Given the description of an element on the screen output the (x, y) to click on. 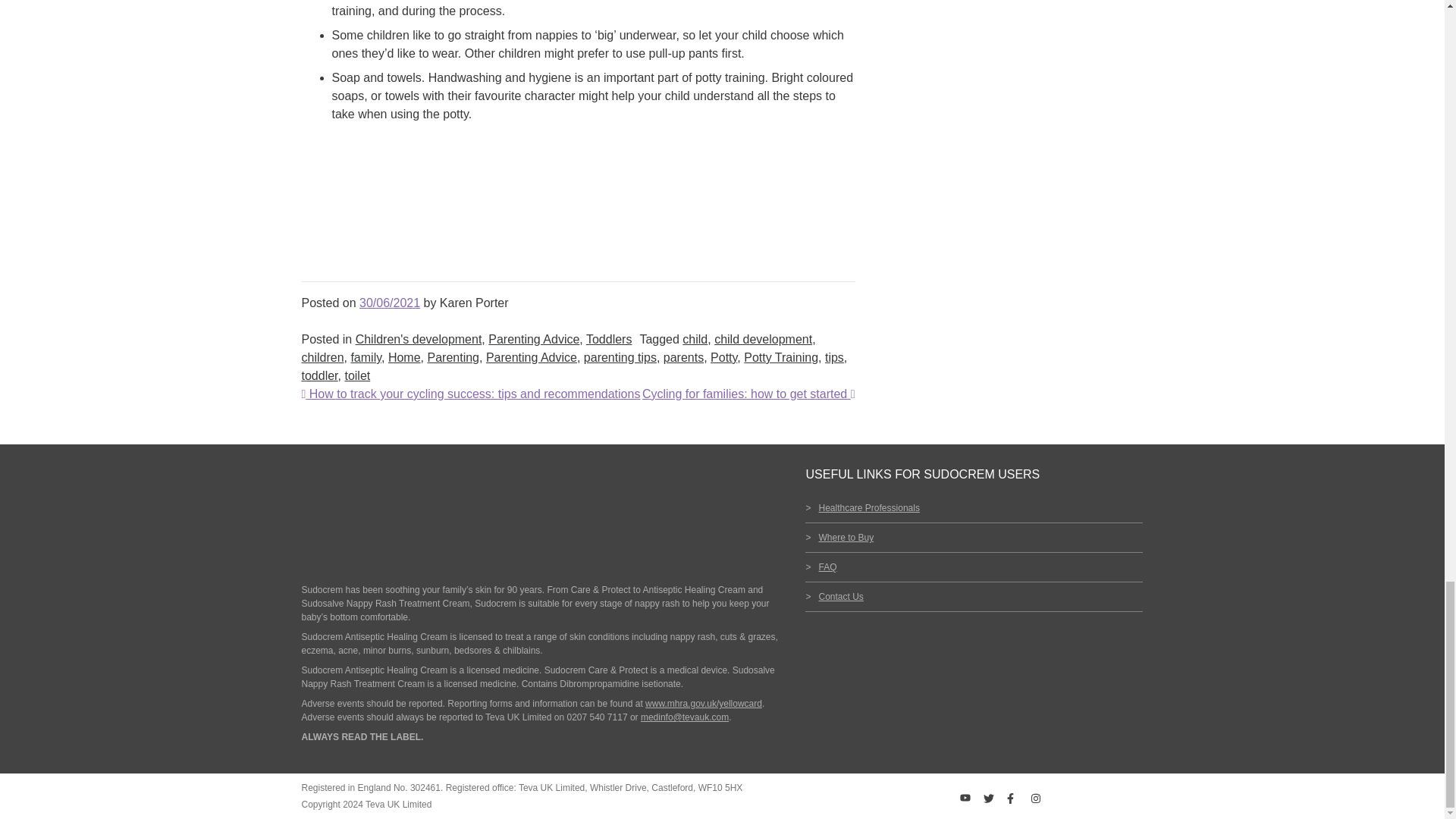
child development (763, 338)
Parenting (452, 357)
children (322, 357)
Parenting Advice (533, 338)
Home (404, 357)
Children's development (418, 338)
family (365, 357)
Toddlers (608, 338)
child (694, 338)
